Given the description of an element on the screen output the (x, y) to click on. 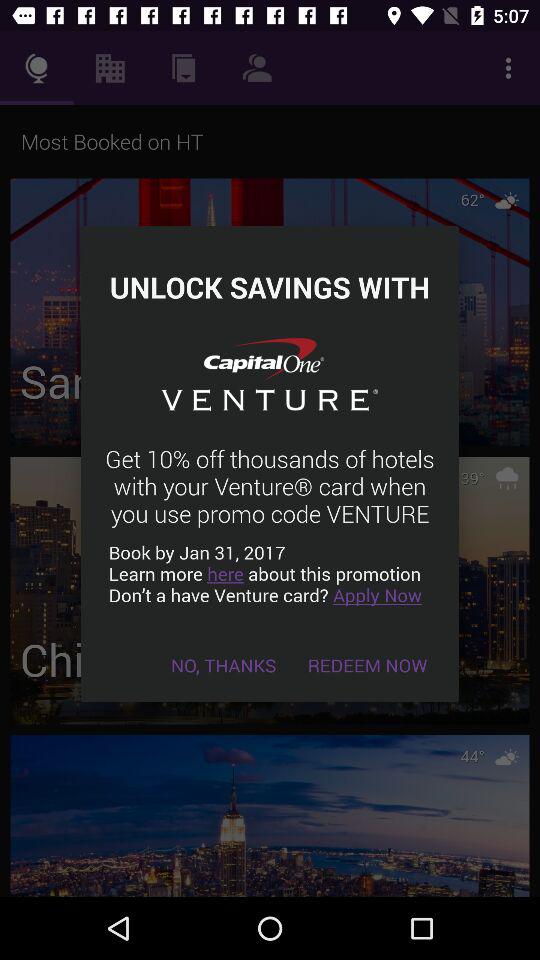
turn off the redeem now at the bottom right corner (367, 664)
